Given the description of an element on the screen output the (x, y) to click on. 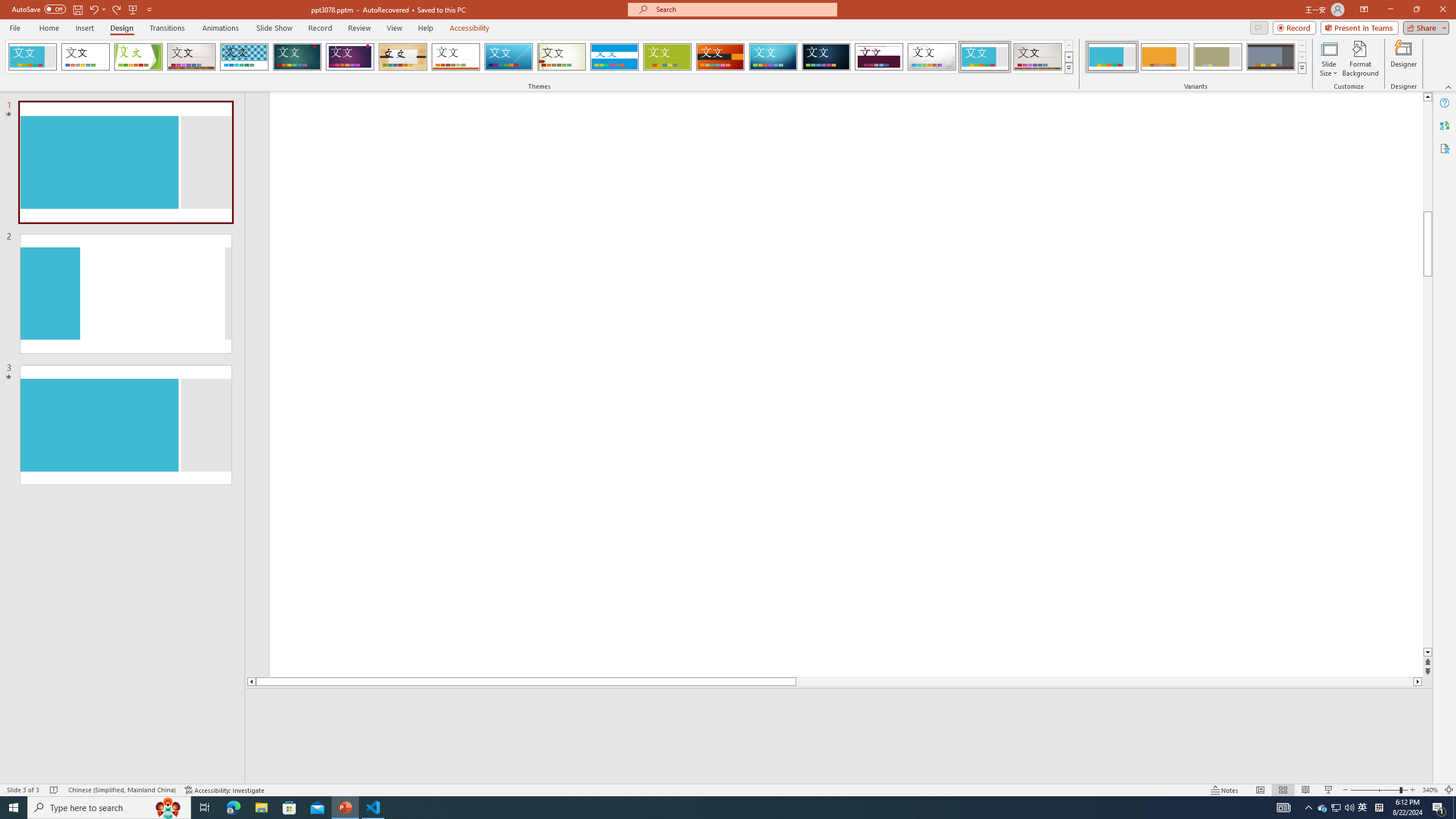
Frame (984, 56)
Slide Size (1328, 58)
Ion (296, 56)
Frame Variant 1 (1112, 56)
Frame Variant 4 (1270, 56)
Variants (1301, 67)
An abstract genetic concept (845, 383)
